Given the description of an element on the screen output the (x, y) to click on. 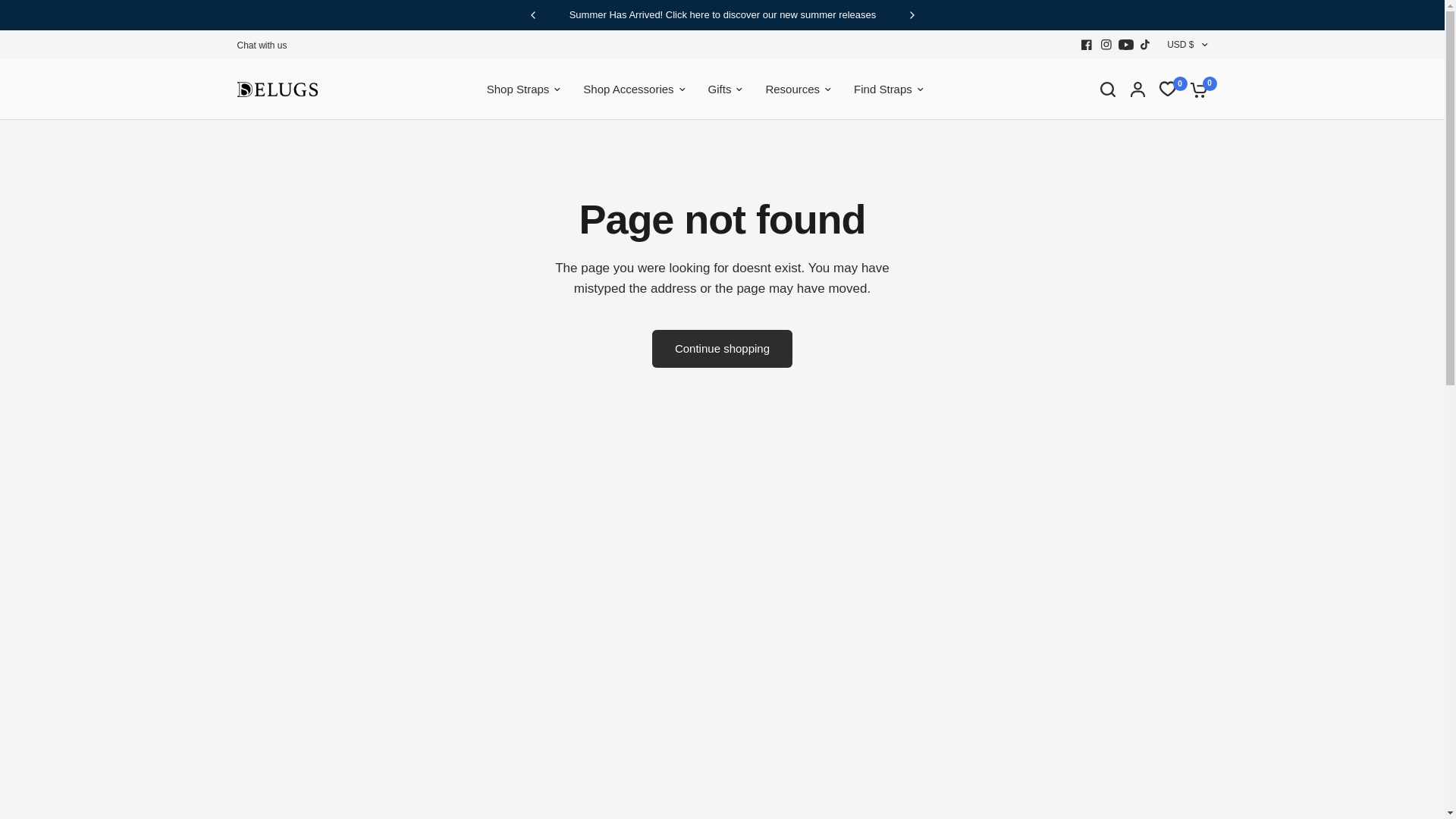
Instagram (1106, 44)
Facebook (1086, 44)
TikTok (1145, 44)
Chat with us (260, 45)
YouTube (1125, 44)
